Given the description of an element on the screen output the (x, y) to click on. 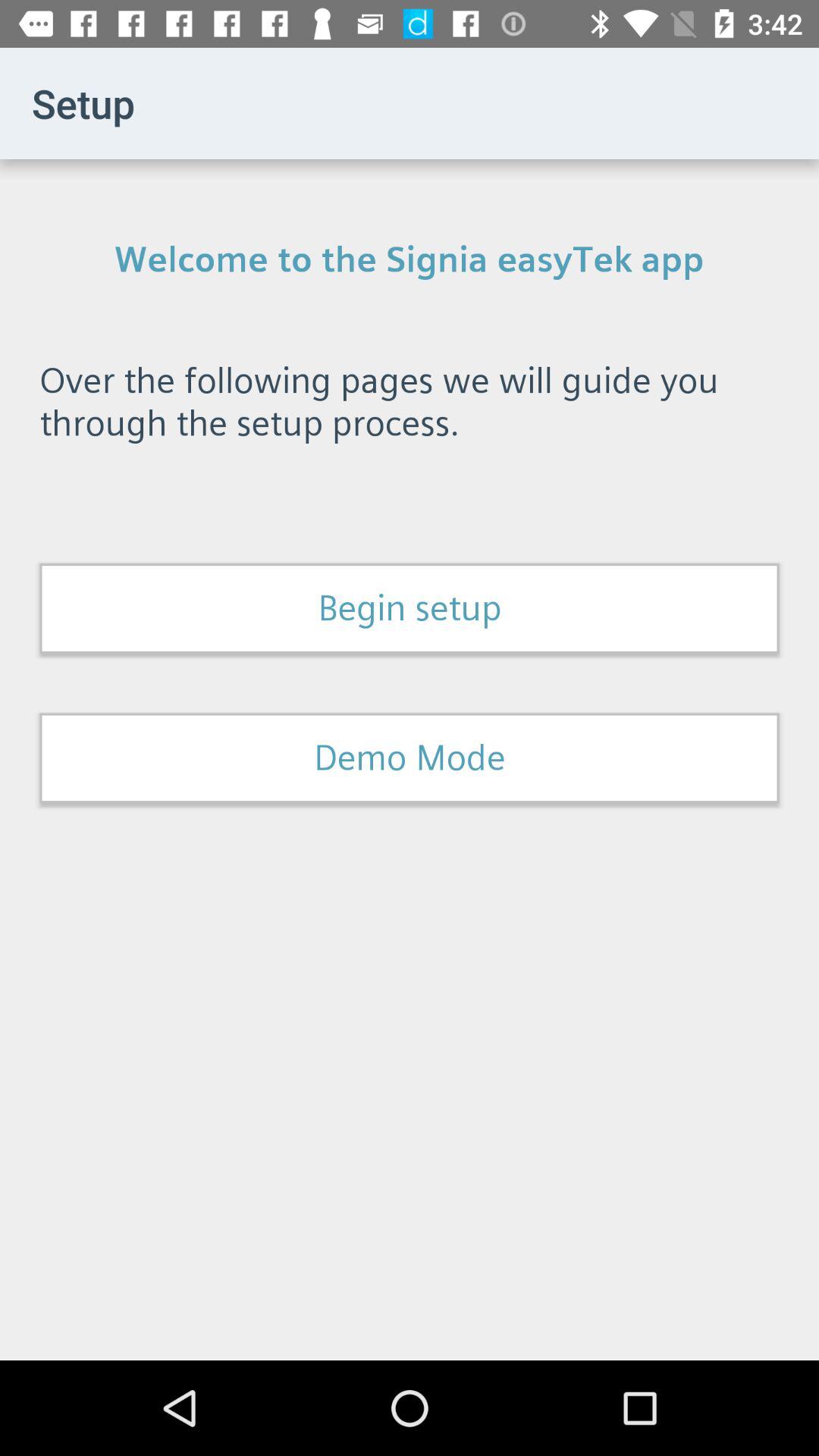
choose the icon below the over the following (409, 608)
